Given the description of an element on the screen output the (x, y) to click on. 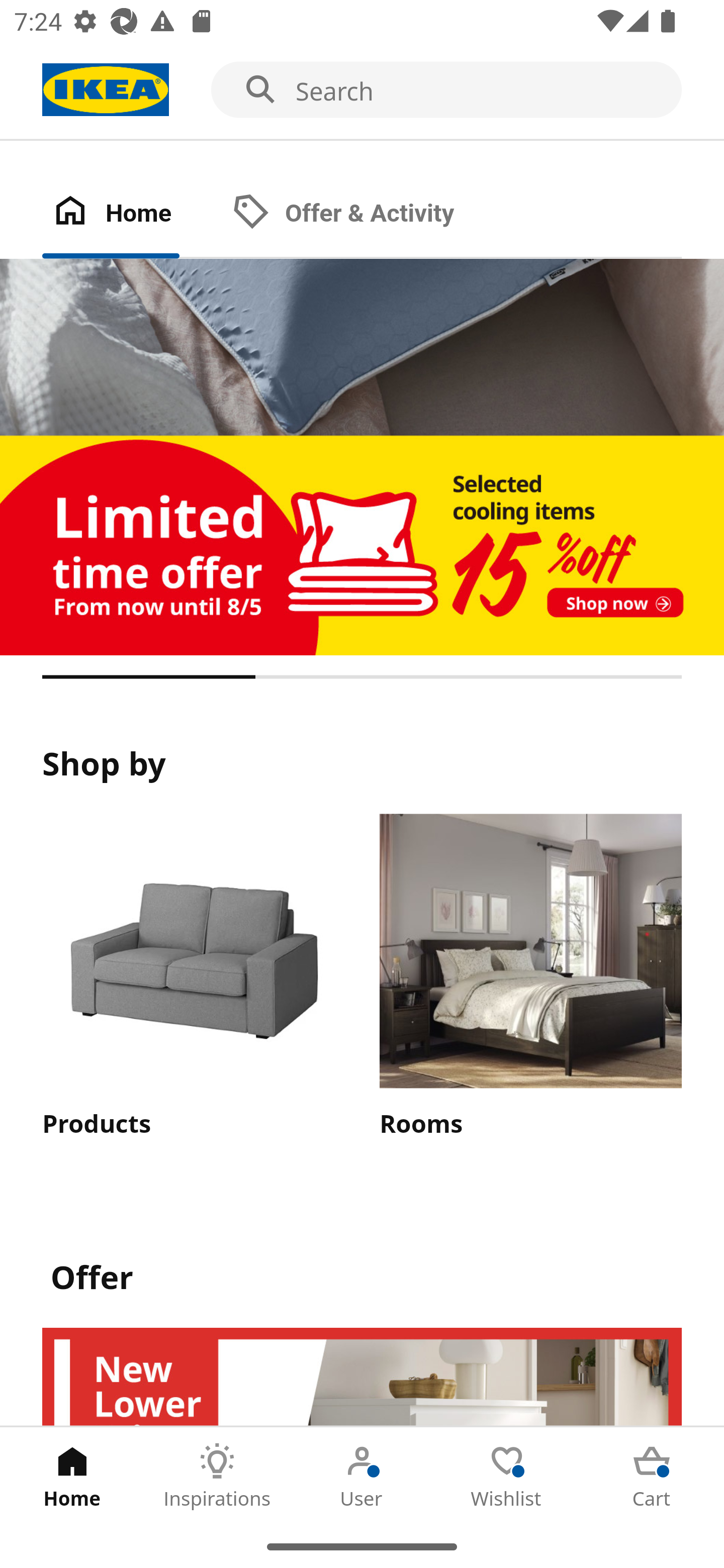
Search (361, 90)
Home
Tab 1 of 2 (131, 213)
Offer & Activity
Tab 2 of 2 (363, 213)
Products (192, 977)
Rooms (530, 977)
Home
Tab 1 of 5 (72, 1476)
Inspirations
Tab 2 of 5 (216, 1476)
User
Tab 3 of 5 (361, 1476)
Wishlist
Tab 4 of 5 (506, 1476)
Cart
Tab 5 of 5 (651, 1476)
